Given the description of an element on the screen output the (x, y) to click on. 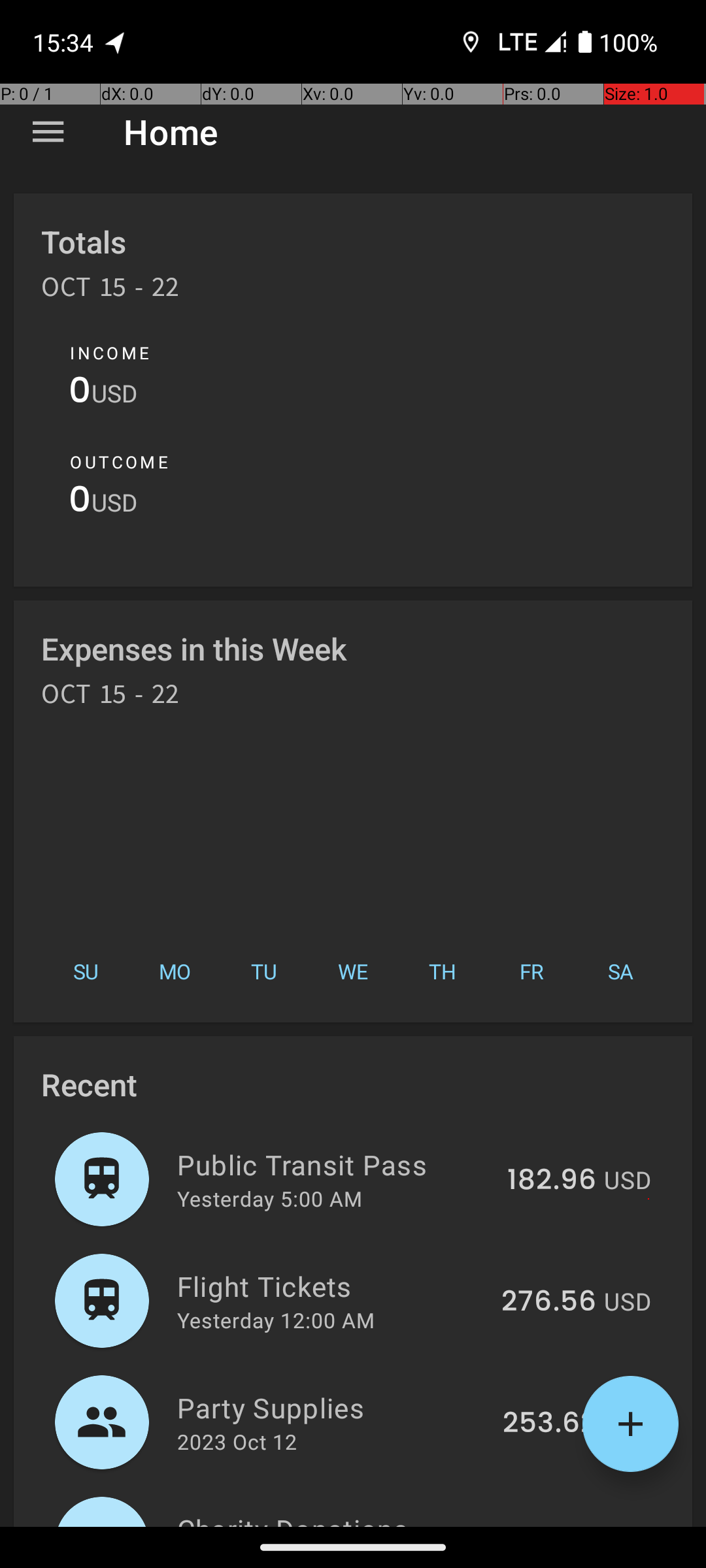
Public Transit Pass Element type: android.widget.TextView (334, 1164)
Yesterday 5:00 AM Element type: android.widget.TextView (269, 1198)
182.96 Element type: android.widget.TextView (551, 1180)
Flight Tickets Element type: android.widget.TextView (331, 1285)
Yesterday 12:00 AM Element type: android.widget.TextView (275, 1320)
276.56 Element type: android.widget.TextView (548, 1301)
Party Supplies Element type: android.widget.TextView (332, 1407)
253.62 Element type: android.widget.TextView (549, 1423)
Charity Donations Element type: android.widget.TextView (333, 1518)
480.16 Element type: android.widget.TextView (550, 1524)
